Given the description of an element on the screen output the (x, y) to click on. 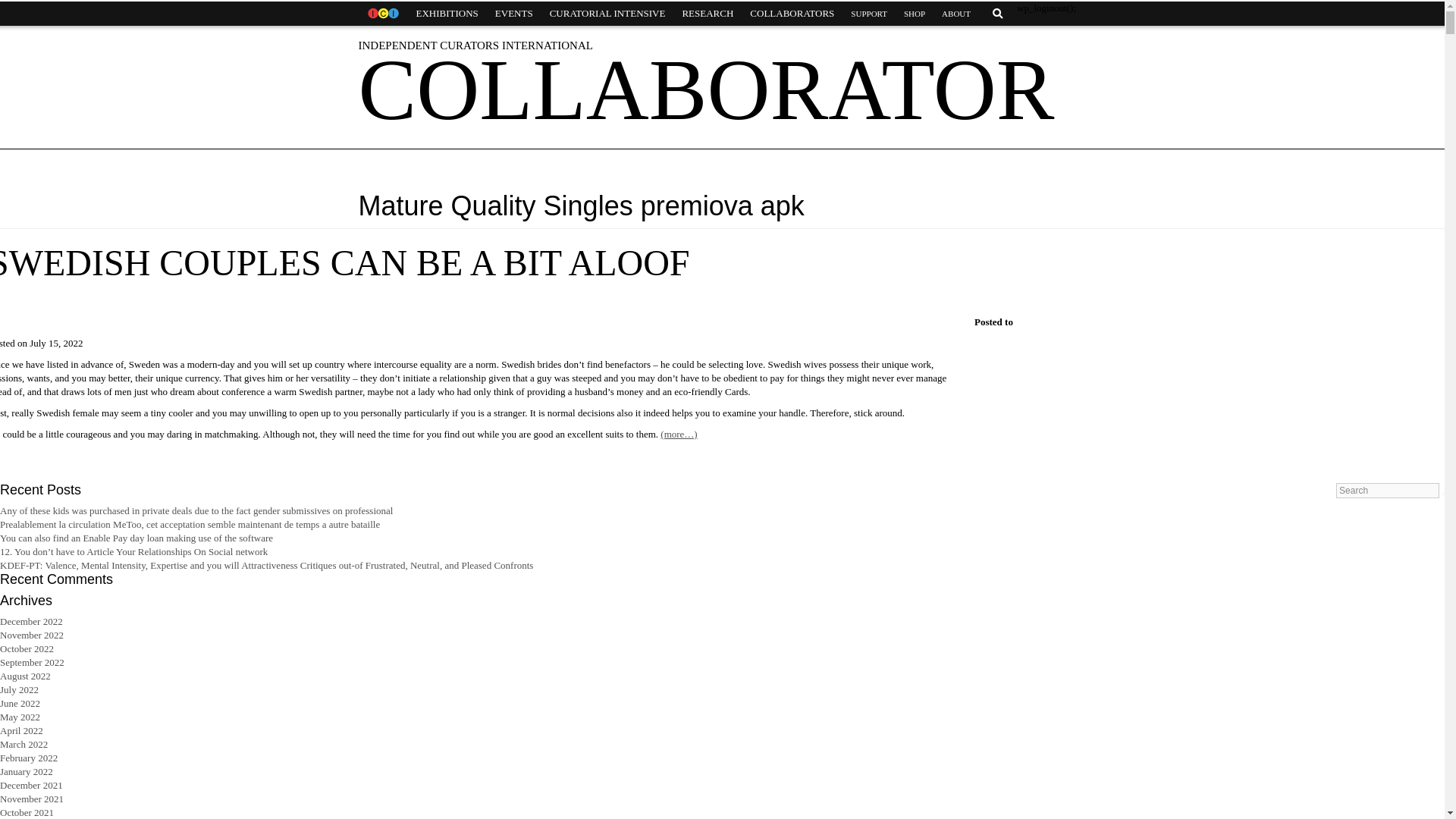
HOME (382, 13)
EXHIBITIONS (446, 13)
RESEARCH (706, 13)
CURATORIAL INTENSIVE (607, 13)
EVENTS (513, 13)
COLLABORATORS (792, 13)
